Given the description of an element on the screen output the (x, y) to click on. 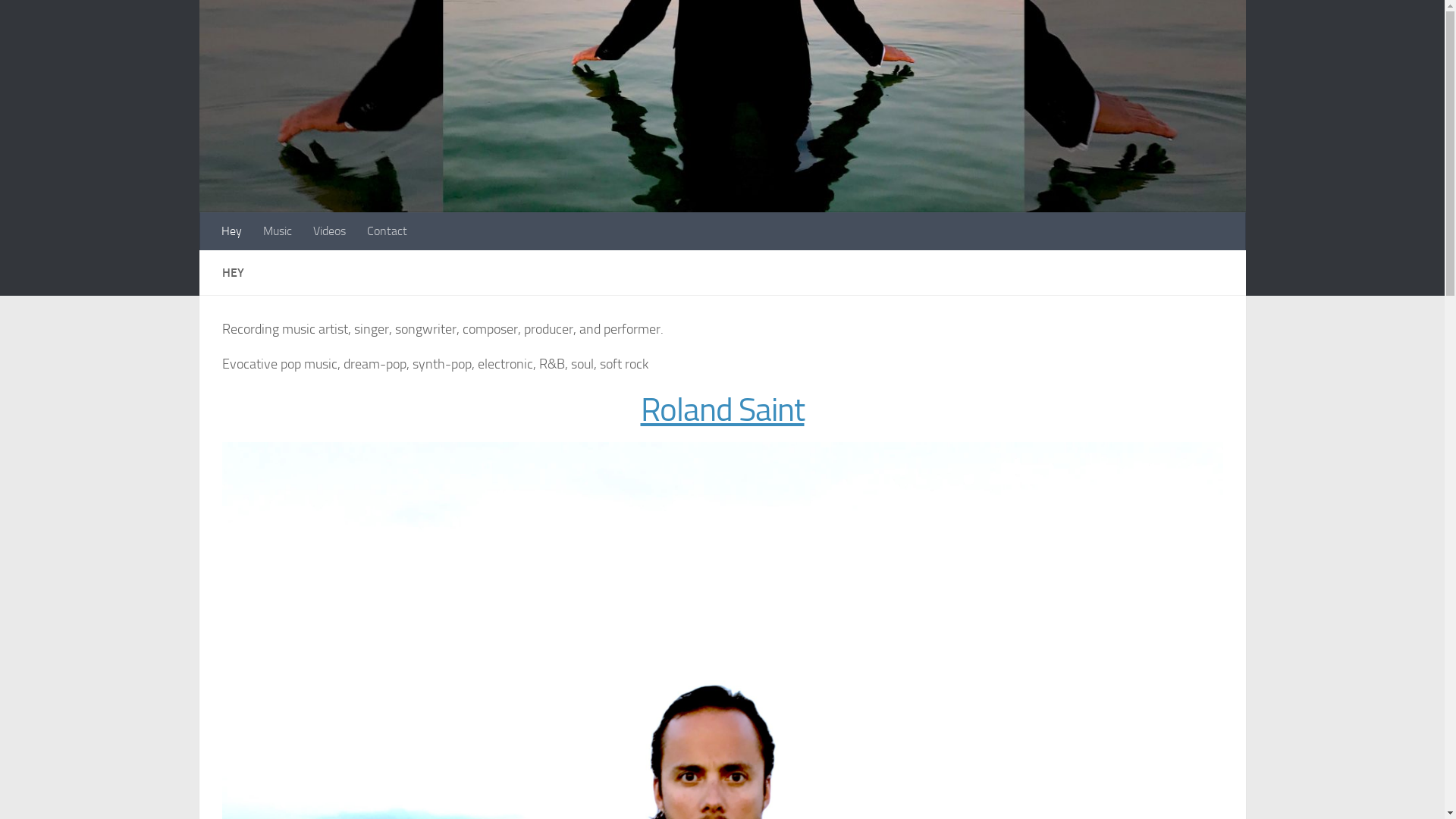
Videos Element type: text (328, 231)
Hey Element type: text (231, 231)
Music Element type: text (276, 231)
Roland Saint Element type: text (721, 409)
Skip to content Element type: text (60, 21)
Contact Element type: text (386, 231)
